Given the description of an element on the screen output the (x, y) to click on. 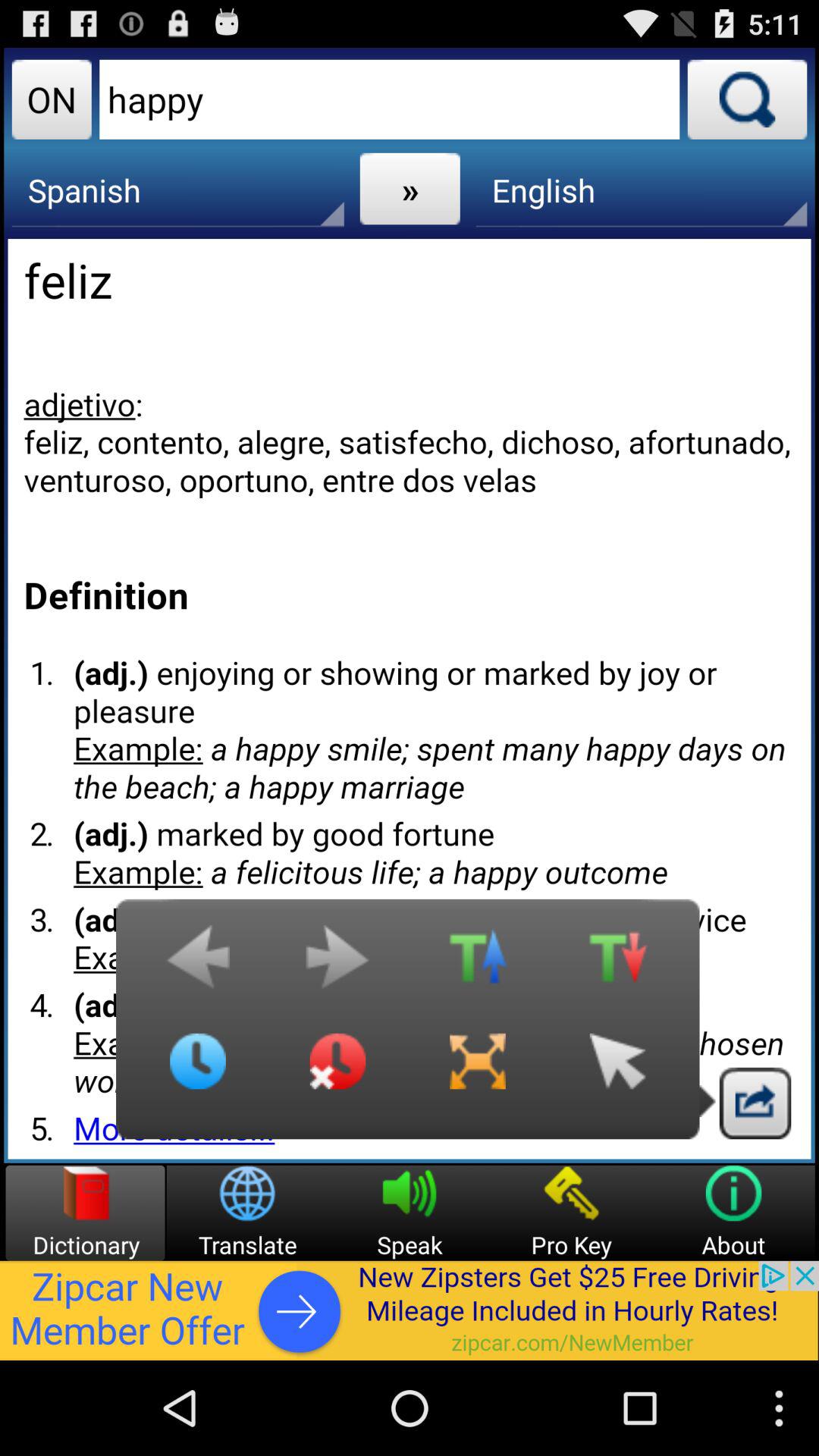
go to previouse (197, 964)
